Given the description of an element on the screen output the (x, y) to click on. 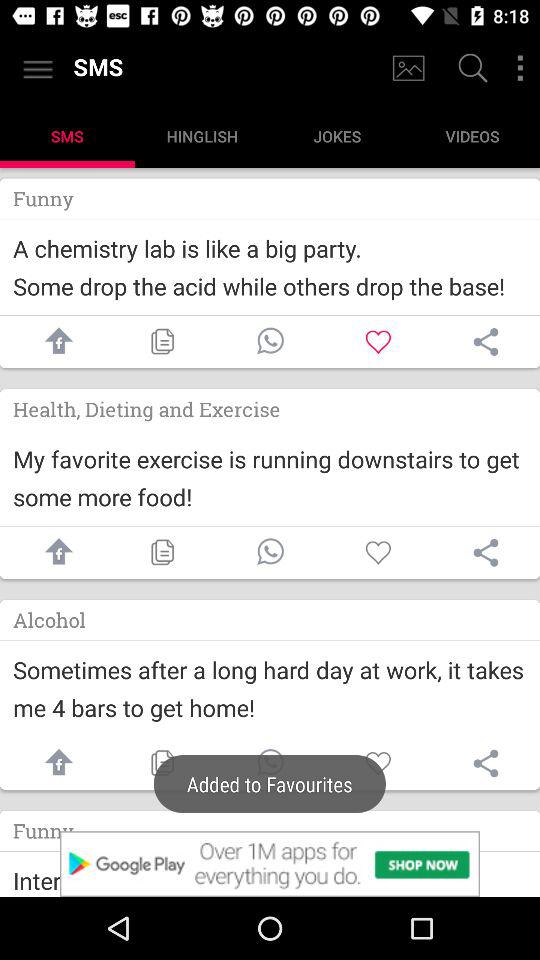
call (270, 552)
